Given the description of an element on the screen output the (x, y) to click on. 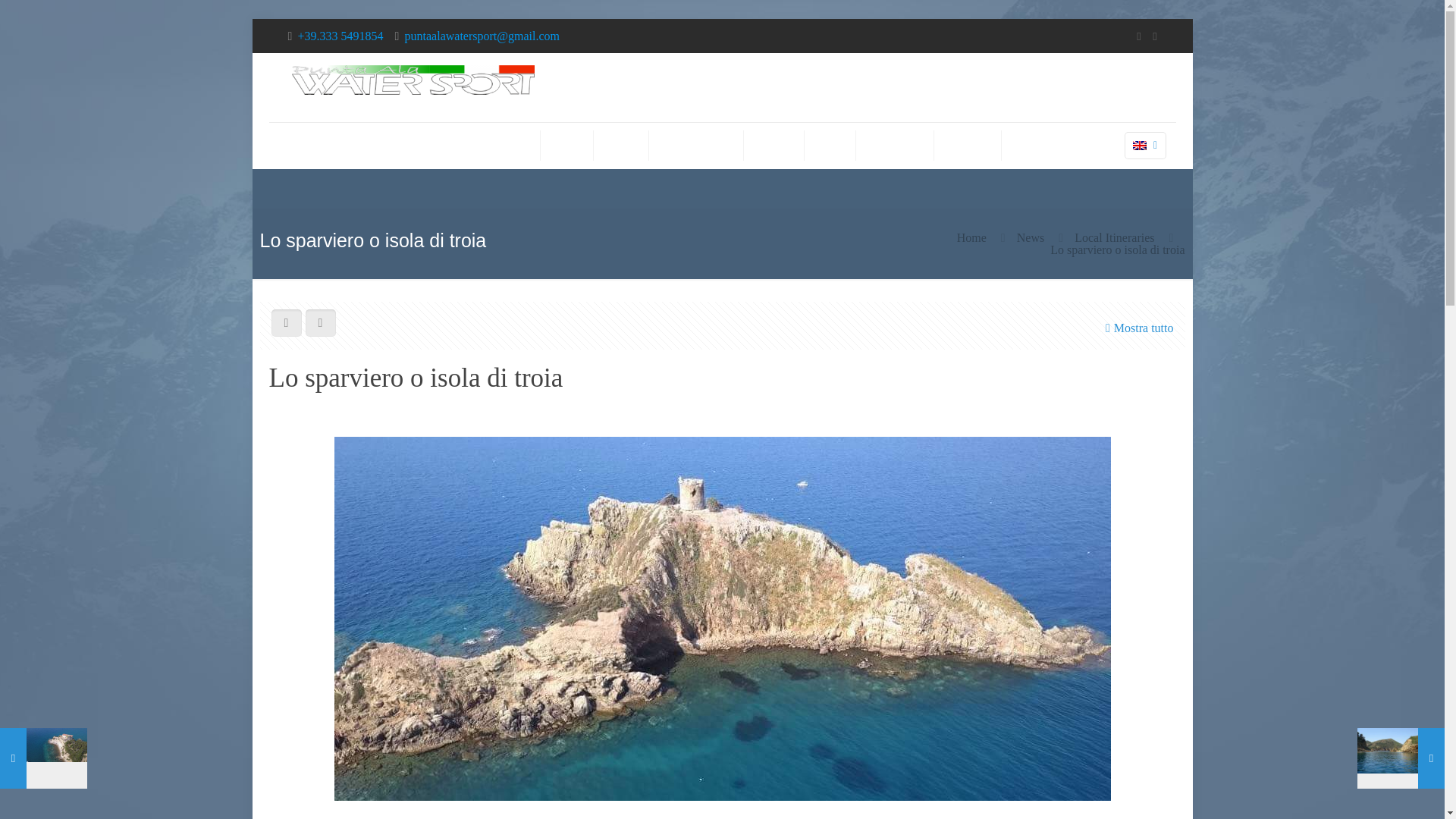
Contact us (967, 145)
Media (830, 145)
Home (515, 145)
Team building (895, 145)
Routes (621, 145)
Guided Excursions (696, 145)
WhatsApp (1138, 36)
News (1029, 237)
Rental (567, 145)
Punta Ala Water Sport (412, 87)
